Given the description of an element on the screen output the (x, y) to click on. 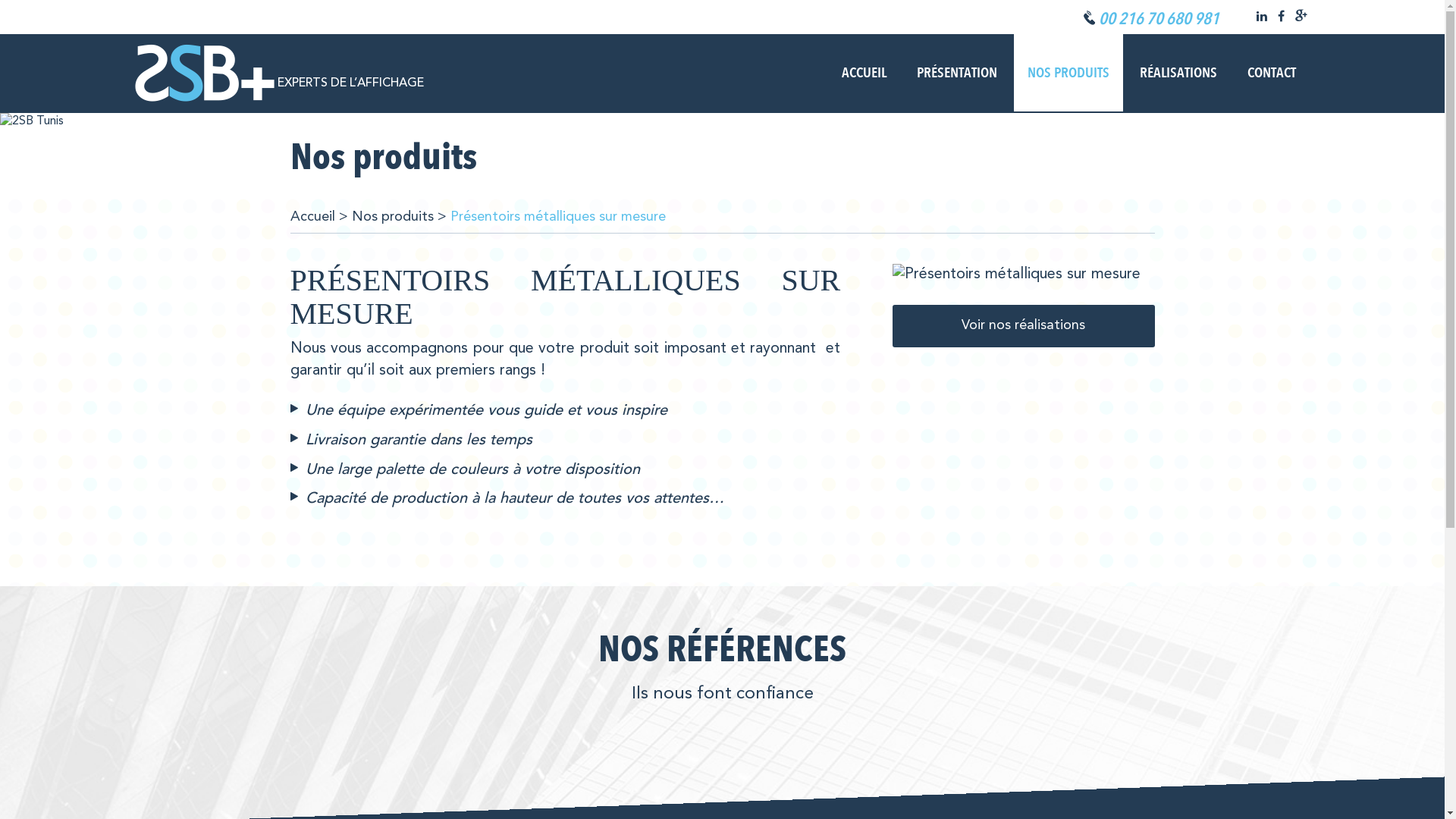
ACCUEIL Element type: text (864, 72)
NOS PRODUITS Element type: text (1068, 72)
CONTACT Element type: text (1271, 72)
Facebook Element type: hover (1280, 17)
linkedin Element type: hover (1260, 17)
Google plus Element type: hover (1300, 17)
Accueil Element type: text (311, 216)
00 216 70 680 981 Element type: text (1150, 19)
2SB Element type: hover (204, 72)
